Given the description of an element on the screen output the (x, y) to click on. 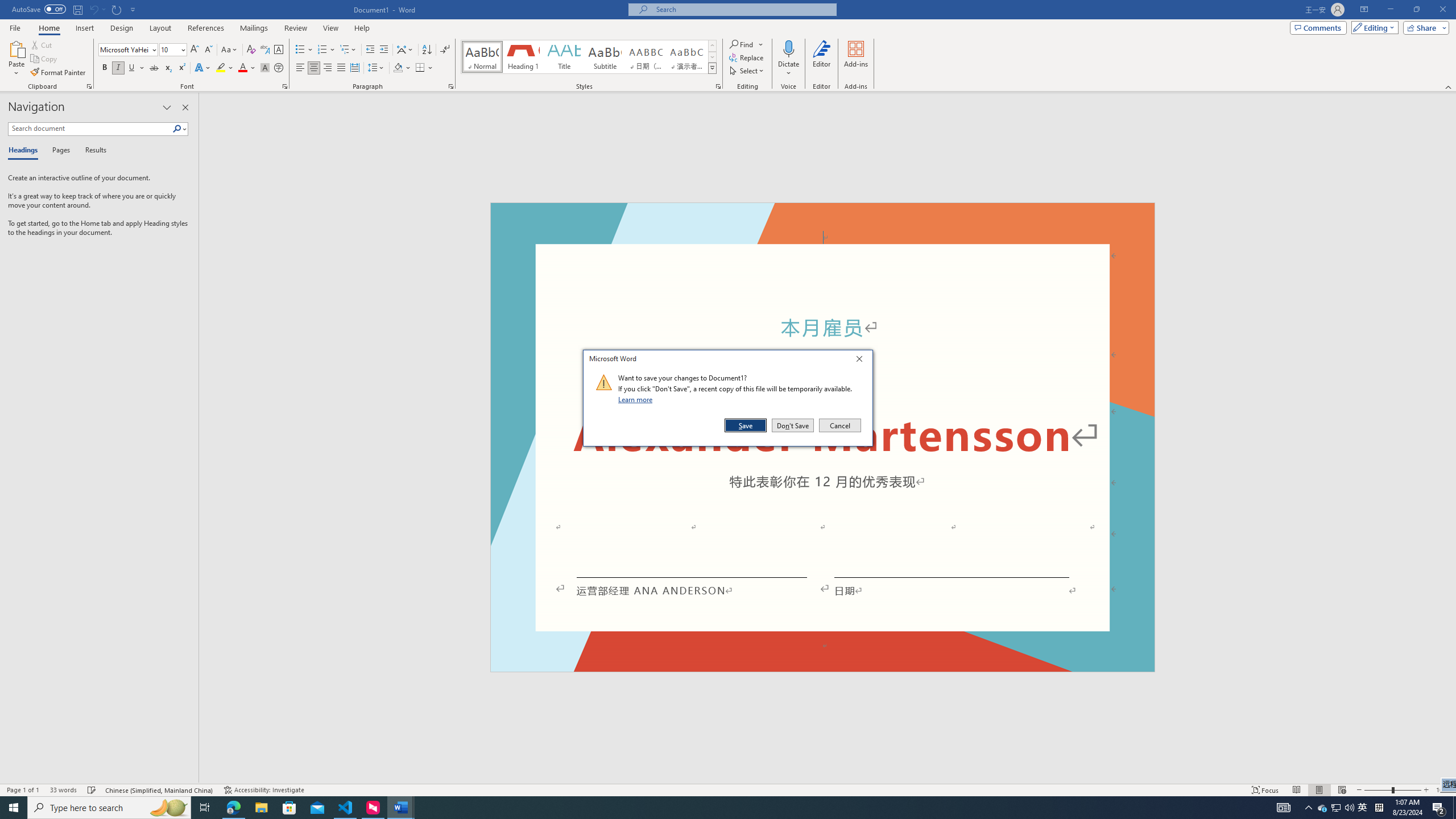
Microsoft Store (289, 807)
Task View (204, 807)
Header -Section 1- (822, 216)
Footer -Section 1- (822, 666)
Subtitle (605, 56)
Don't Save (792, 425)
